Given the description of an element on the screen output the (x, y) to click on. 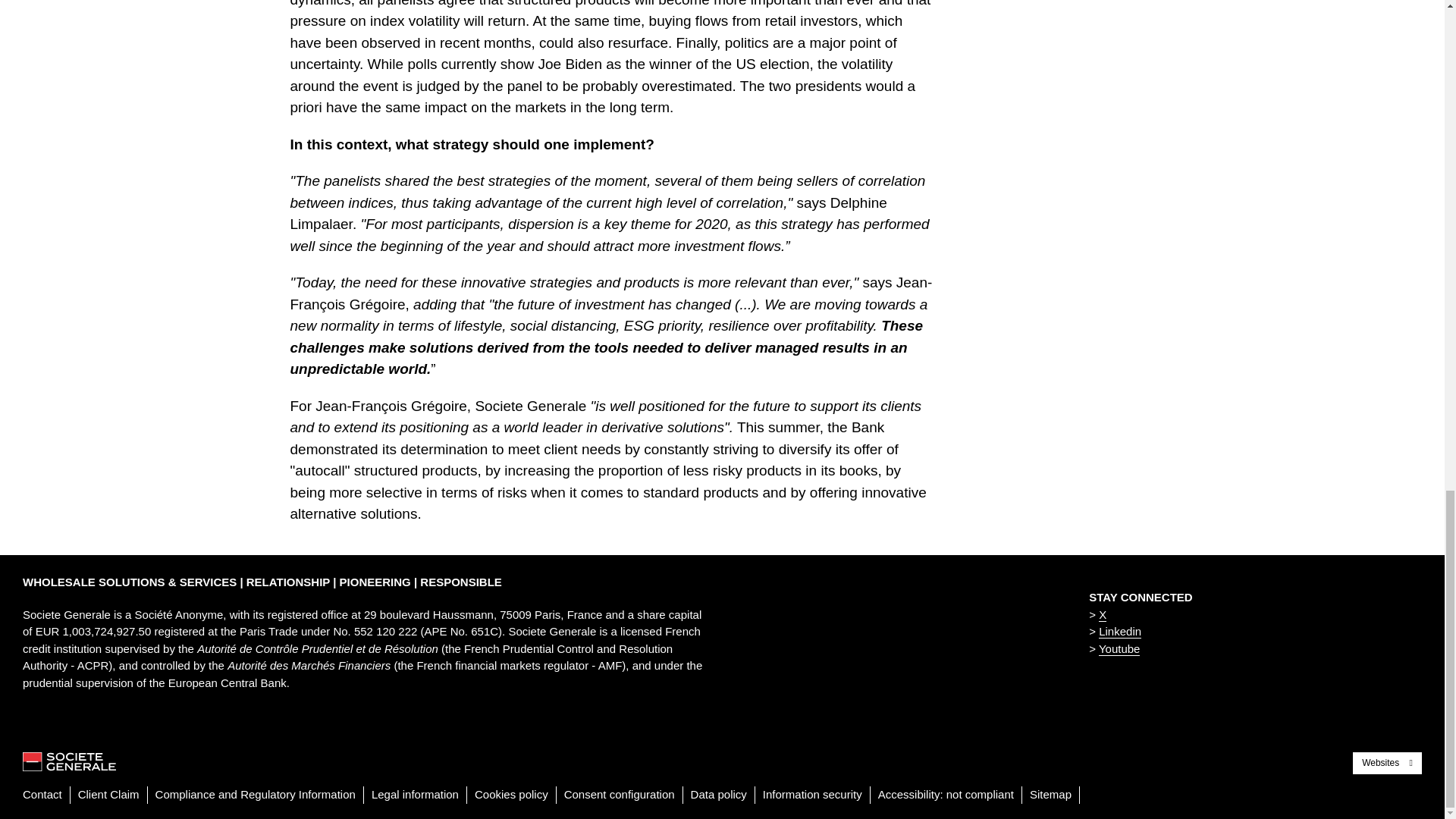
Go to Linkedin (1120, 631)
Go to Youtube (1119, 648)
